Given the description of an element on the screen output the (x, y) to click on. 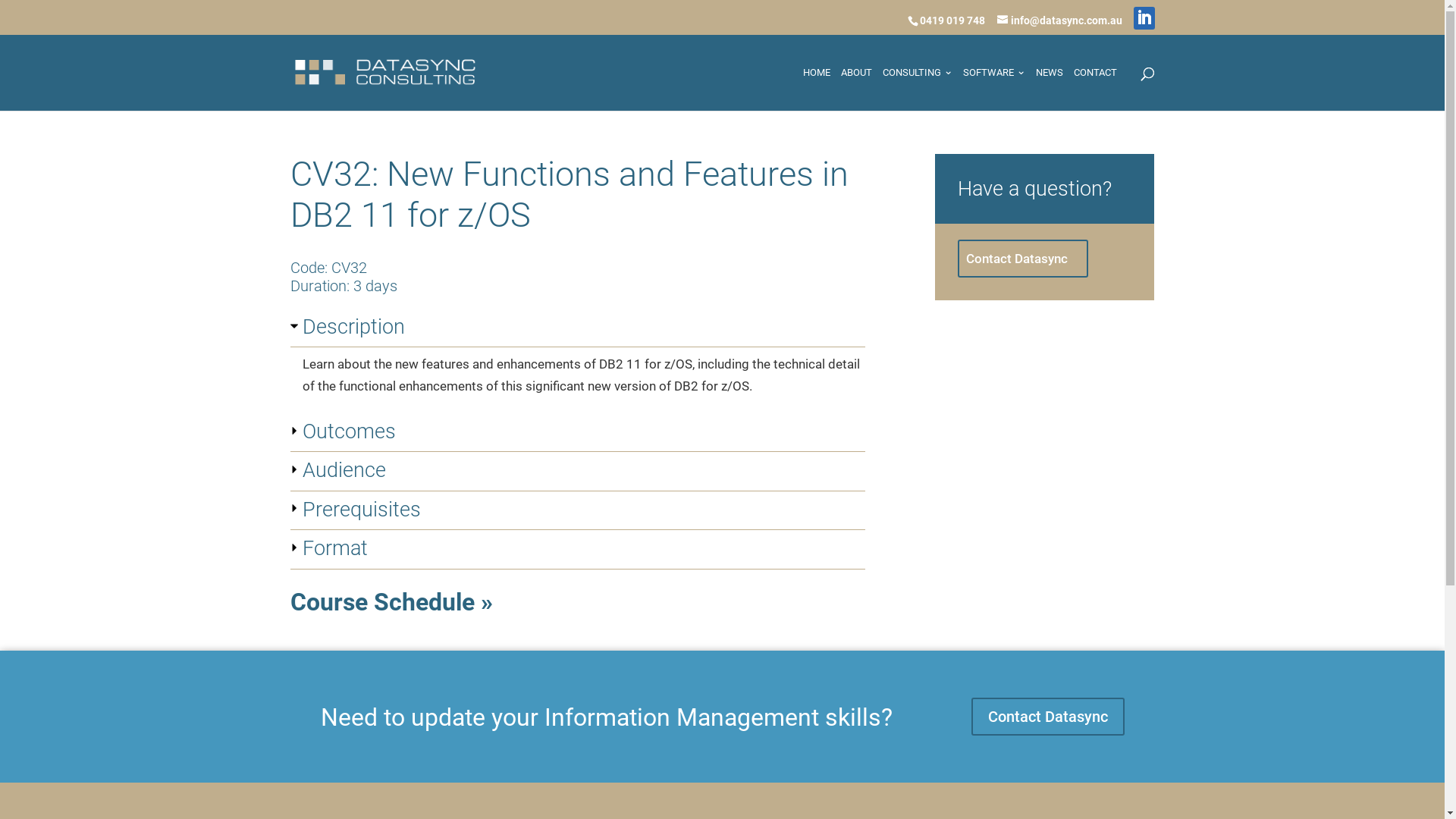
Contact Datasync Element type: text (1022, 258)
Contact Datasync Element type: text (1046, 716)
0419 019 748 Element type: text (951, 19)
info@datasync.com.au Element type: text (1058, 19)
SOFTWARE Element type: text (994, 87)
ABOUT Element type: text (855, 87)
CONSULTING Element type: text (917, 87)
NEWS Element type: text (1049, 87)
HOME Element type: text (815, 87)
CONTACT Element type: text (1095, 87)
